Given the description of an element on the screen output the (x, y) to click on. 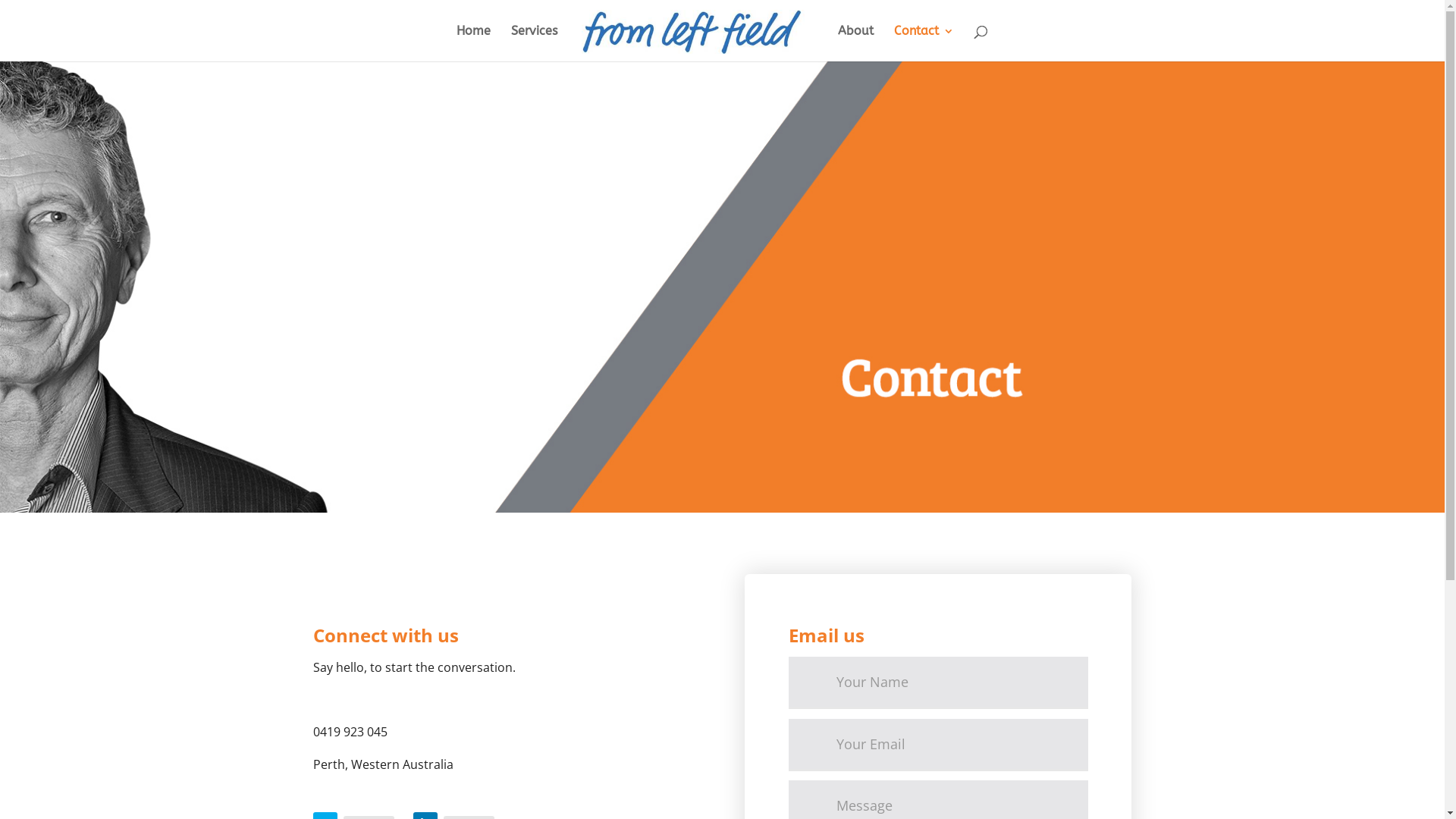
Services Element type: text (534, 43)
About Element type: text (855, 43)
Contact Element type: text (923, 43)
Home Element type: text (473, 43)
